Given the description of an element on the screen output the (x, y) to click on. 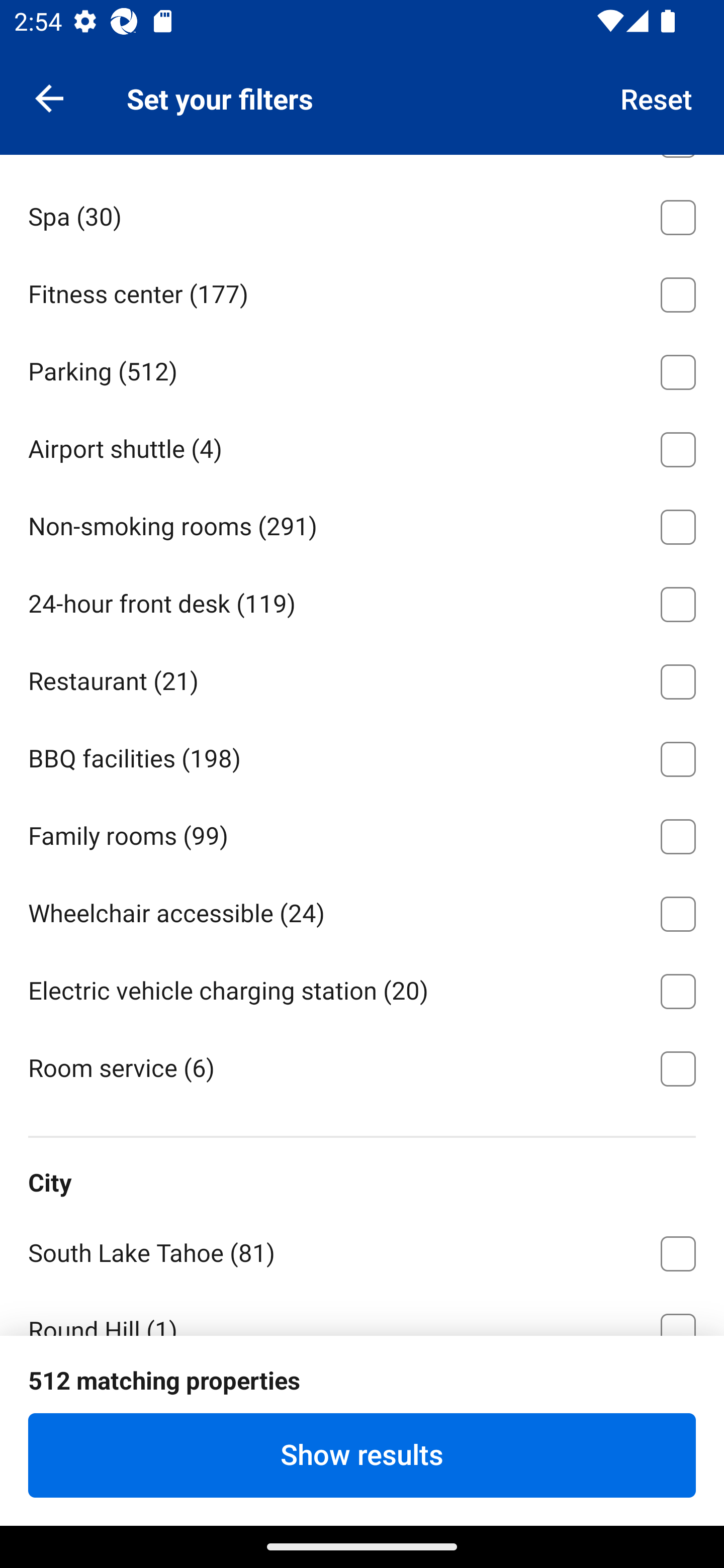
Navigate up (49, 97)
Reset (656, 97)
Spa ⁦(30) (361, 213)
Fitness center ⁦(177) (361, 291)
Parking ⁦(512) (361, 368)
Airport shuttle ⁦(4) (361, 445)
Non-smoking rooms ⁦(291) (361, 523)
24-hour front desk ⁦(119) (361, 600)
Restaurant ⁦(21) (361, 677)
BBQ facilities ⁦(198) (361, 755)
Family rooms ⁦(99) (361, 832)
Wheelchair accessible ⁦(24) (361, 909)
Electric vehicle charging station ⁦(20) (361, 987)
Room service ⁦(6) (361, 1067)
South Lake Tahoe ⁦(81) (361, 1250)
Round Hill ⁦(1) (361, 1311)
Pomins ⁦(1) (361, 1404)
Show results (361, 1454)
